Given the description of an element on the screen output the (x, y) to click on. 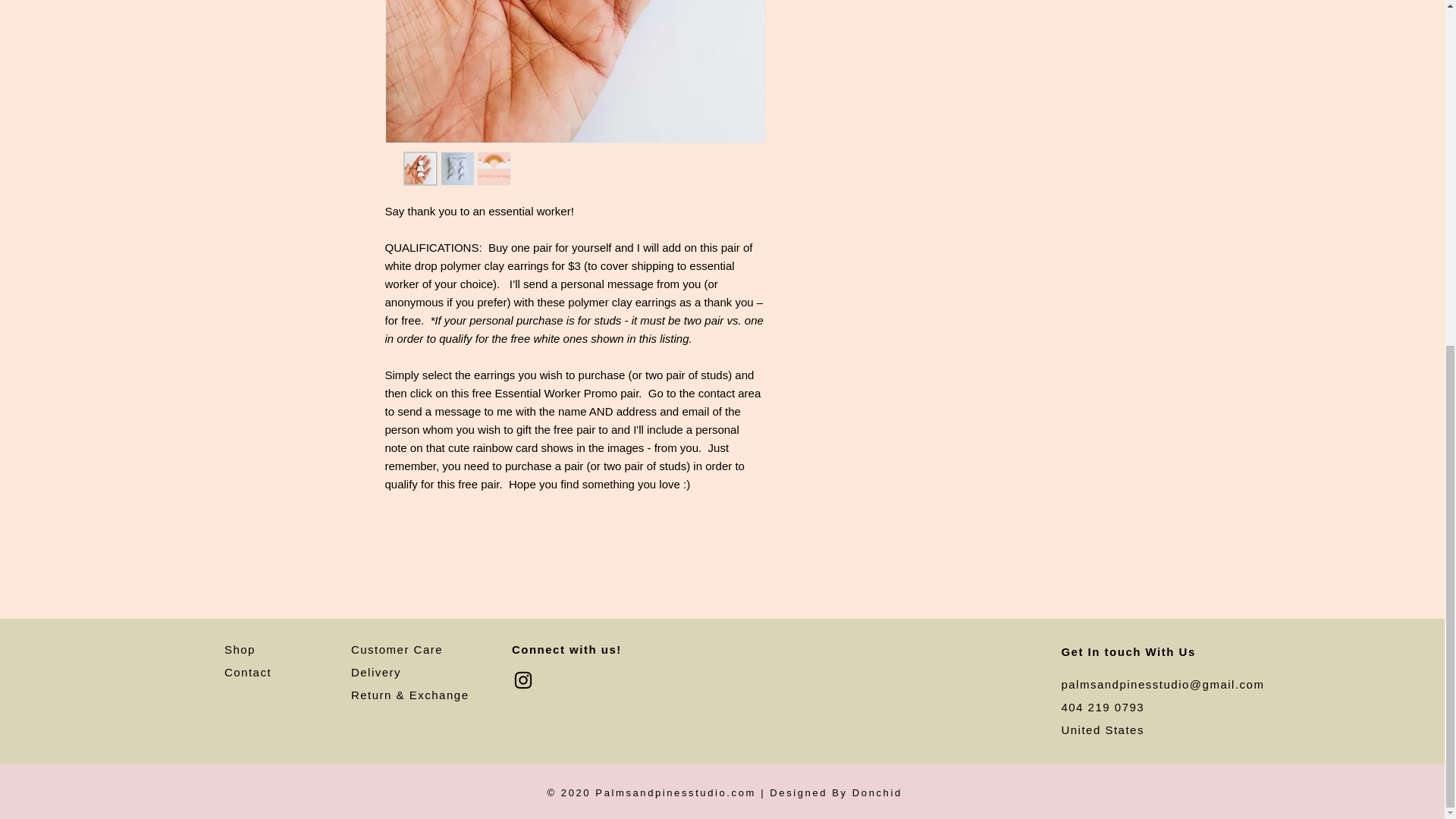
Customer Care (396, 649)
Donchid (876, 792)
404 219 0793 (1102, 707)
Contact (247, 671)
Shop (240, 649)
Delivery (375, 671)
